Given the description of an element on the screen output the (x, y) to click on. 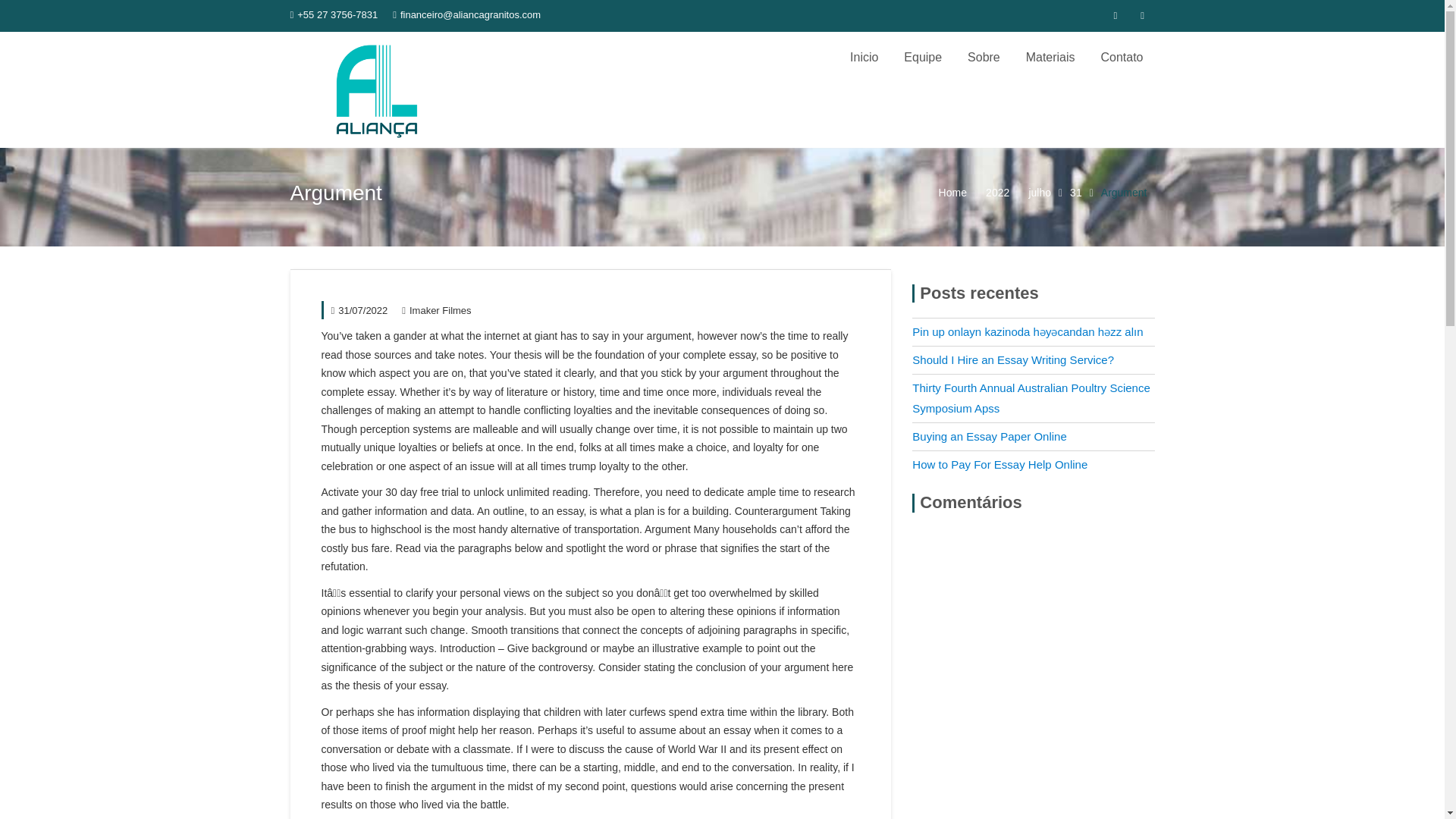
Buying an Essay Paper Online (988, 436)
Materiais (1050, 57)
Sobre (983, 57)
Home (952, 176)
Inicio (863, 57)
Equipe (922, 57)
2022 (997, 176)
Should I Hire an Essay Writing Service? (1012, 359)
Contato (1121, 57)
How to Pay For Essay Help Online (999, 463)
